Given the description of an element on the screen output the (x, y) to click on. 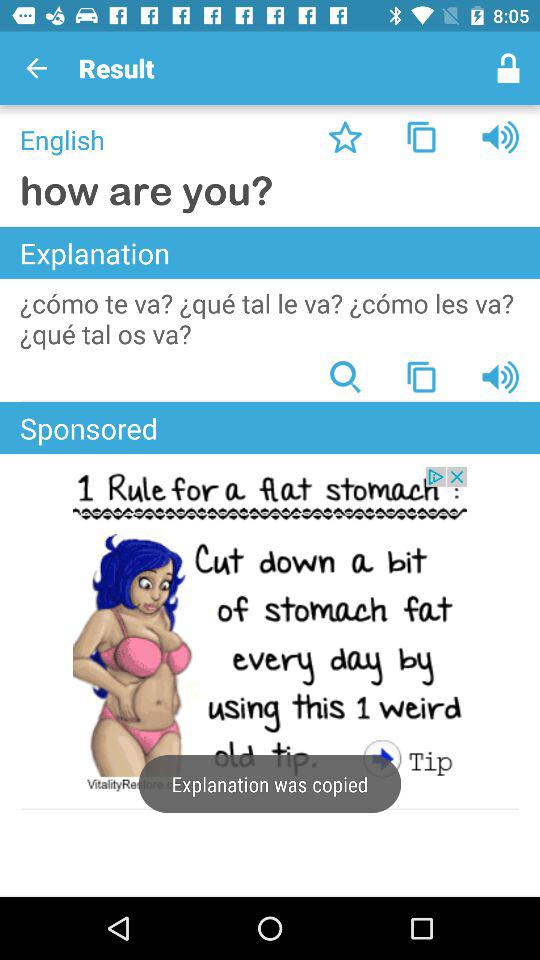
tap the icon next to the result item (36, 68)
